Given the description of an element on the screen output the (x, y) to click on. 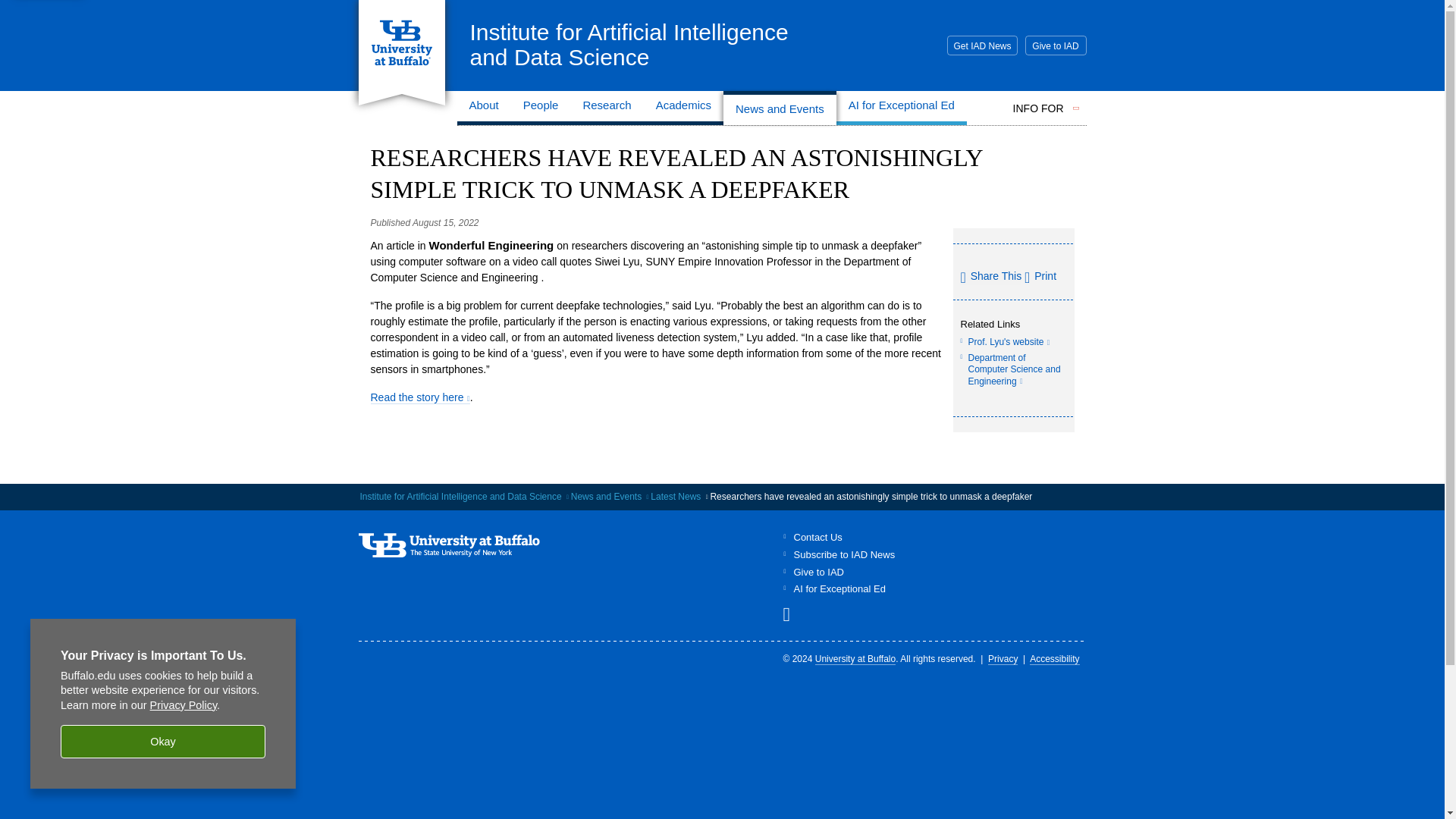
This link opens a page in a new window or tab. (1013, 368)
About (484, 107)
Academics (683, 107)
Get IAD News (981, 45)
This link opens a page in a new window or tab. (418, 397)
LinkedIn (629, 44)
People (792, 614)
This link opens a page in a new window or tab. (540, 107)
Give to IAD (1008, 340)
